Given the description of an element on the screen output the (x, y) to click on. 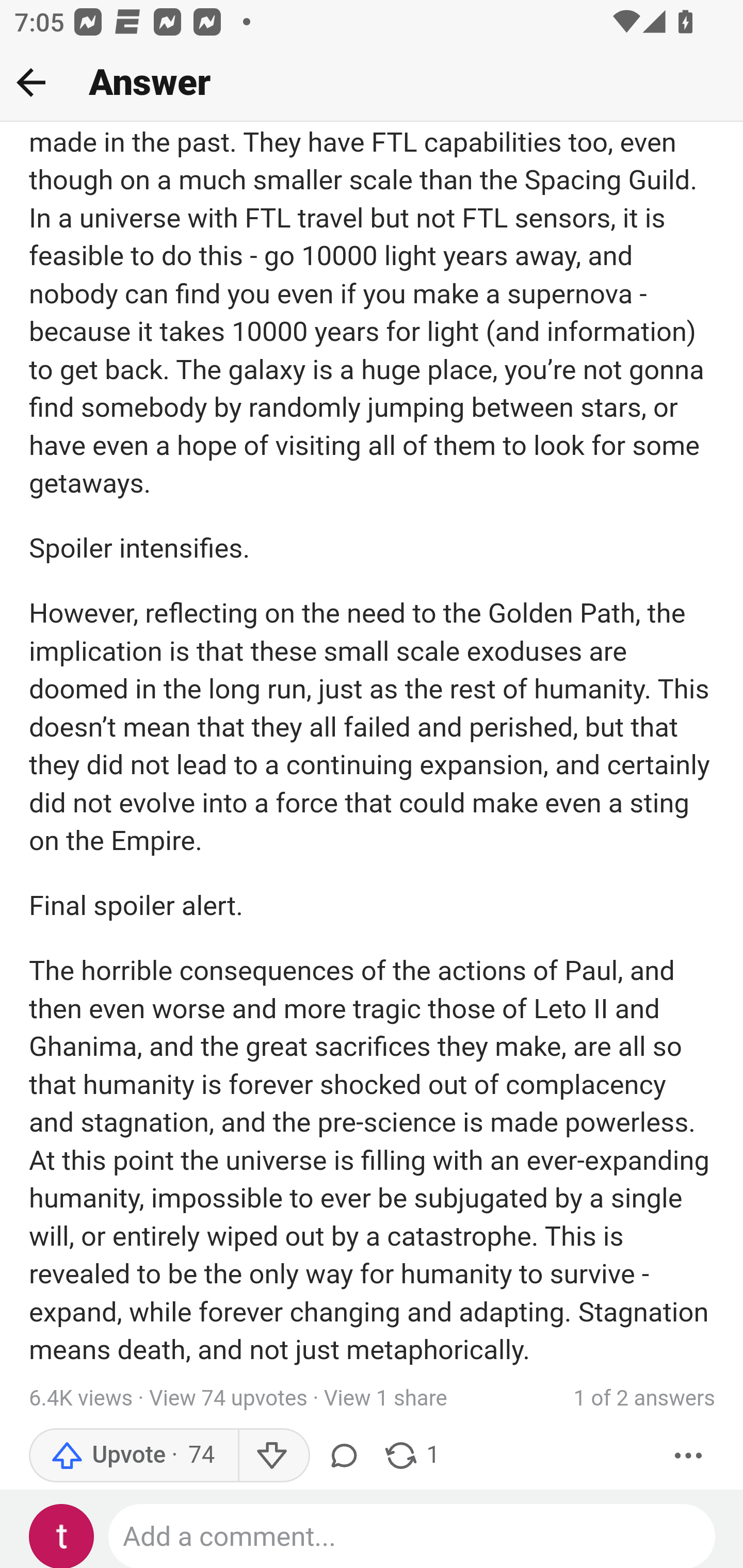
Back Answer (371, 82)
Back (30, 82)
View 74 upvotes (227, 1398)
View 1 share (385, 1398)
1 of 2 answers (644, 1399)
Profile photo for Test Appium (61, 1536)
Add a comment... (412, 1536)
